Given the description of an element on the screen output the (x, y) to click on. 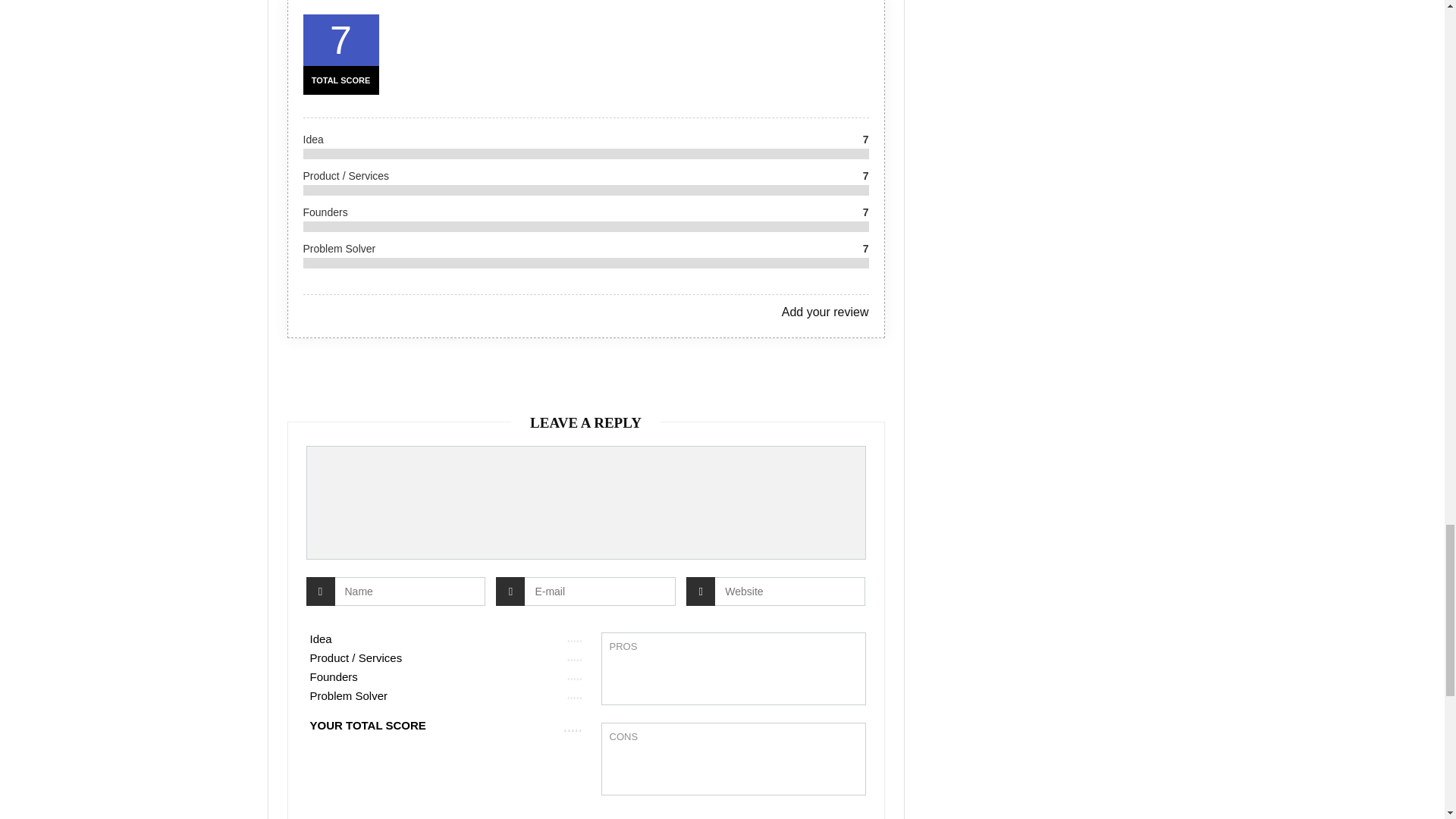
Add your review (825, 312)
Add your review (825, 312)
